Given the description of an element on the screen output the (x, y) to click on. 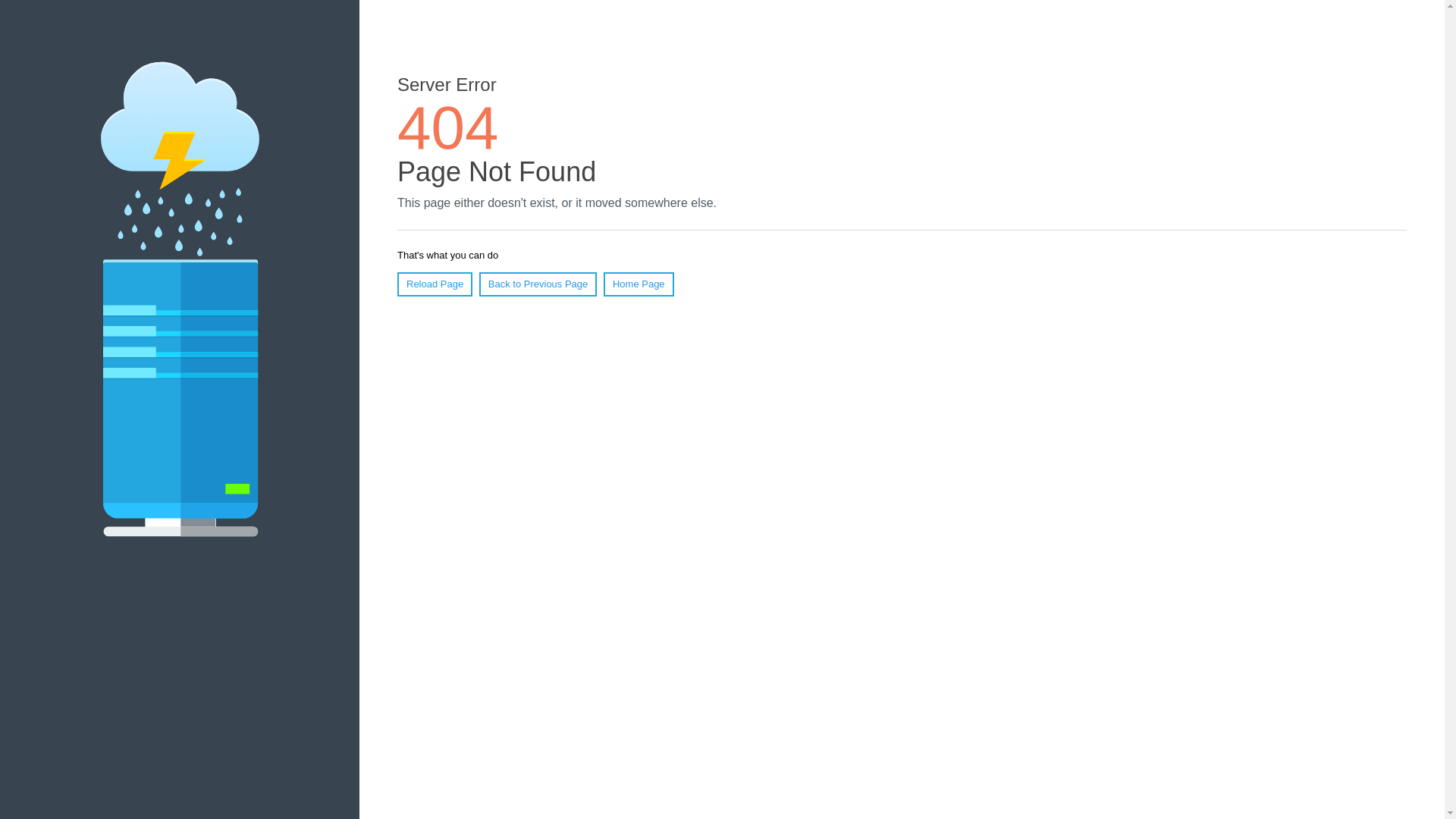
Back to Previous Page Element type: text (538, 284)
Reload Page Element type: text (434, 284)
Home Page Element type: text (638, 284)
